Given the description of an element on the screen output the (x, y) to click on. 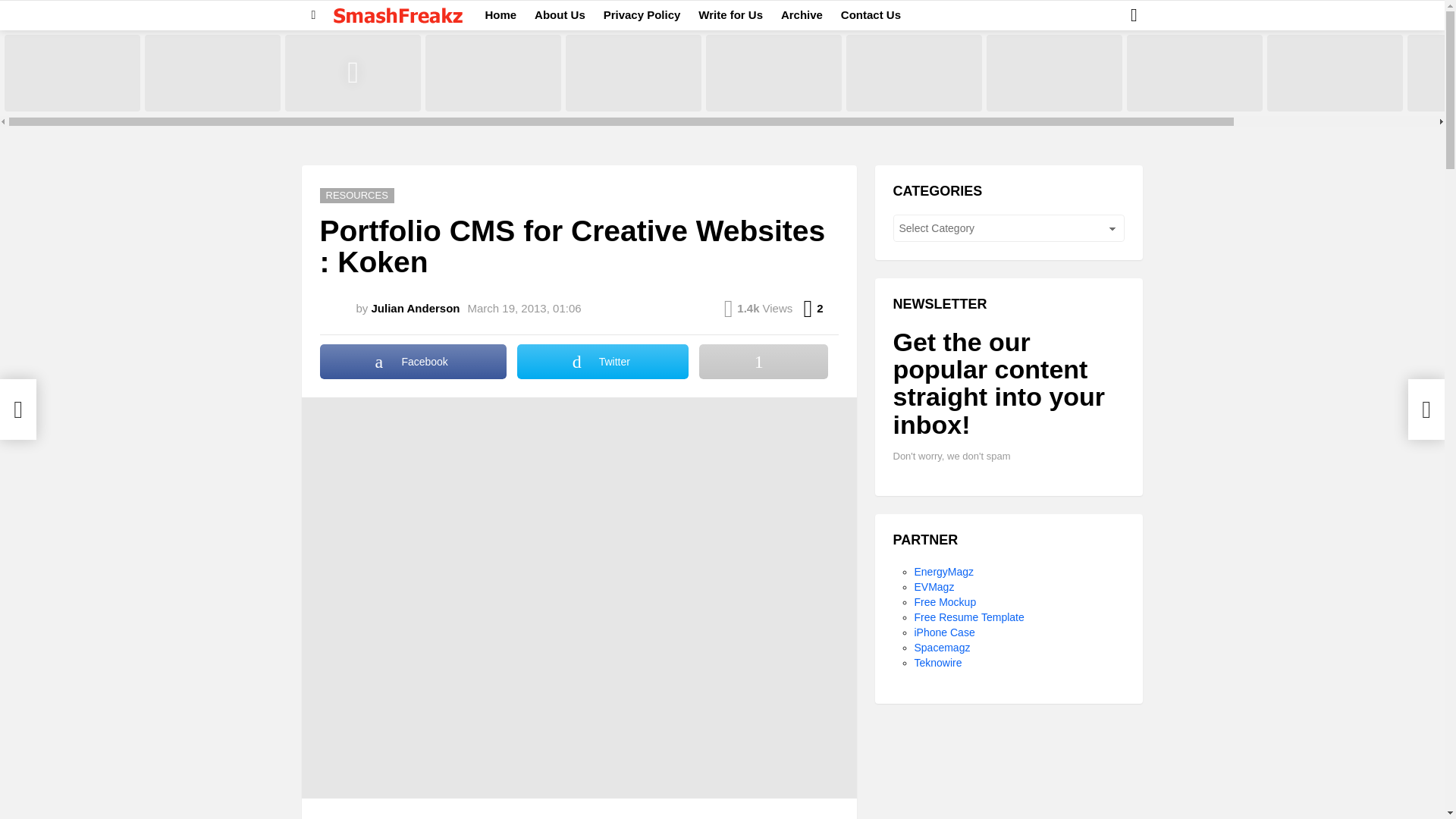
30 Chat Web App UI Design for Inspiration (1194, 73)
RESOURCES (357, 195)
Privacy Policy (641, 15)
5 Free Music Icon Sets for Your Interface Project (913, 73)
Archive (801, 15)
Free Photorealistic Open Book Mockup (1334, 73)
Contact Us (870, 15)
50 Free Cryptocurrency Icons for Your Interface Project (633, 73)
20 Powerful Lion Logo Design for Inspiration (773, 73)
Menu (313, 14)
